Given the description of an element on the screen output the (x, y) to click on. 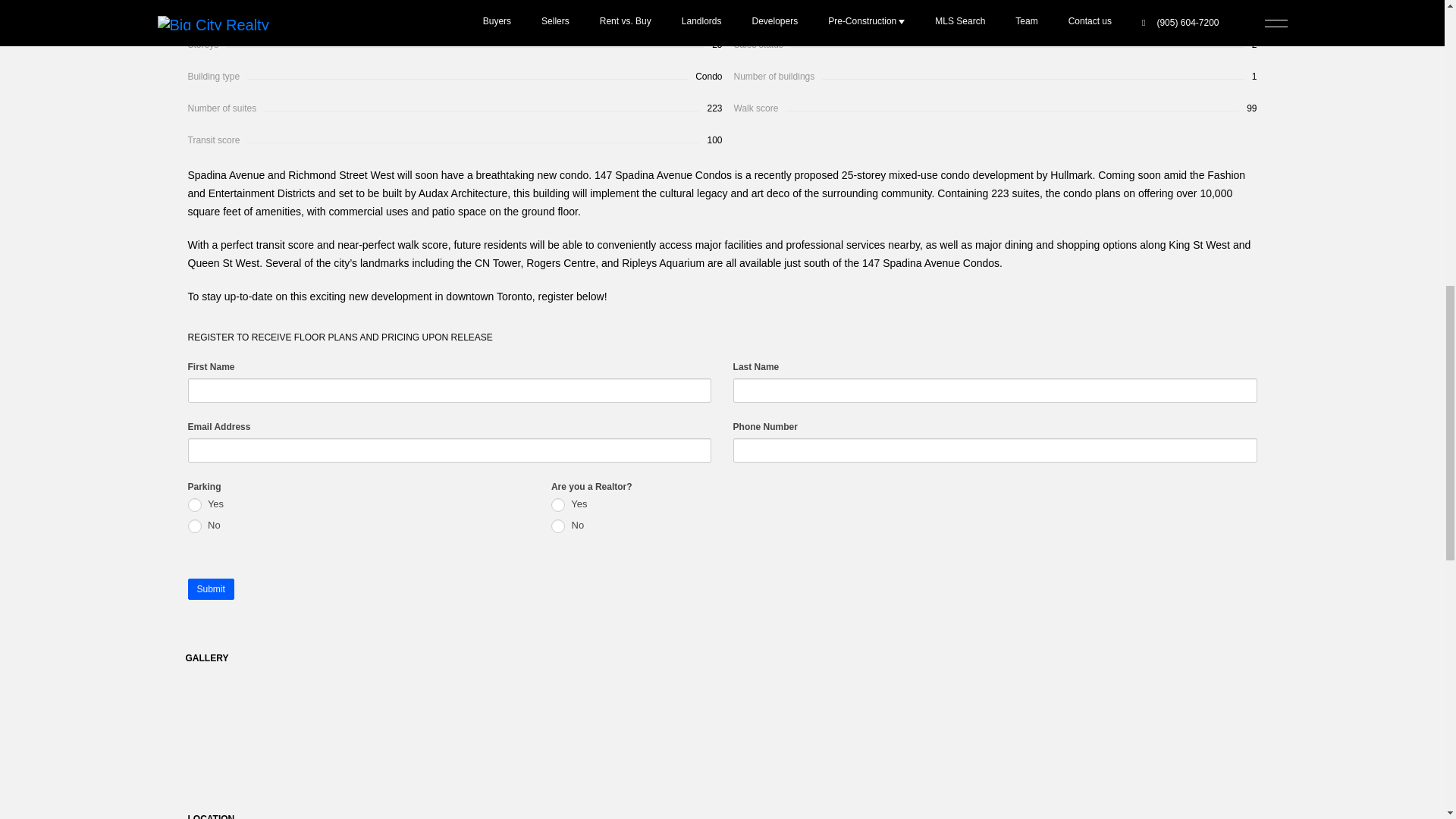
No (557, 526)
Yes (557, 504)
Yes (194, 504)
No (194, 526)
